Given the description of an element on the screen output the (x, y) to click on. 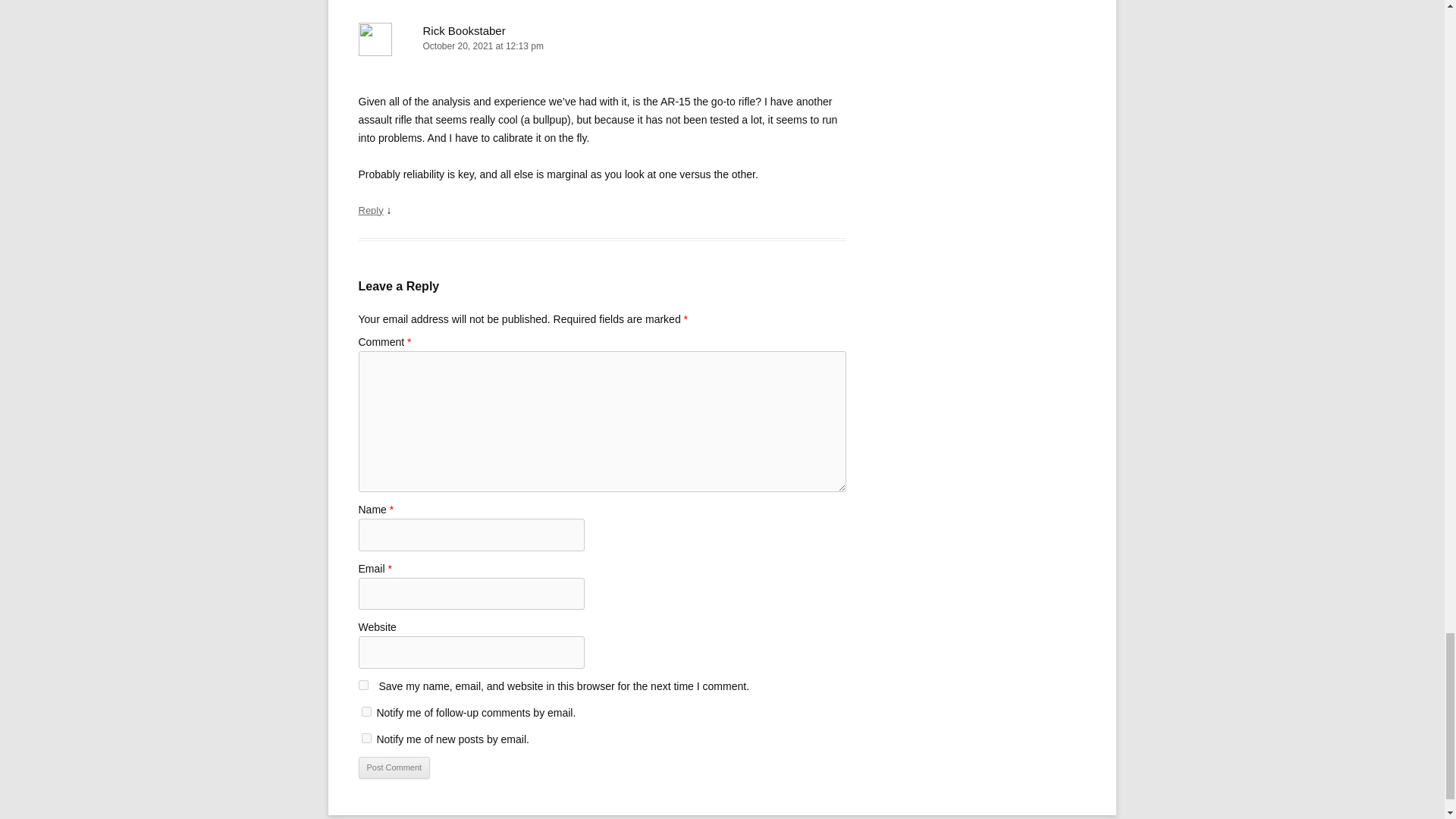
Post Comment (393, 767)
October 20, 2021 at 12:13 pm (601, 46)
yes (363, 685)
subscribe (366, 737)
subscribe (366, 711)
Post Comment (393, 767)
Reply (370, 210)
